Given the description of an element on the screen output the (x, y) to click on. 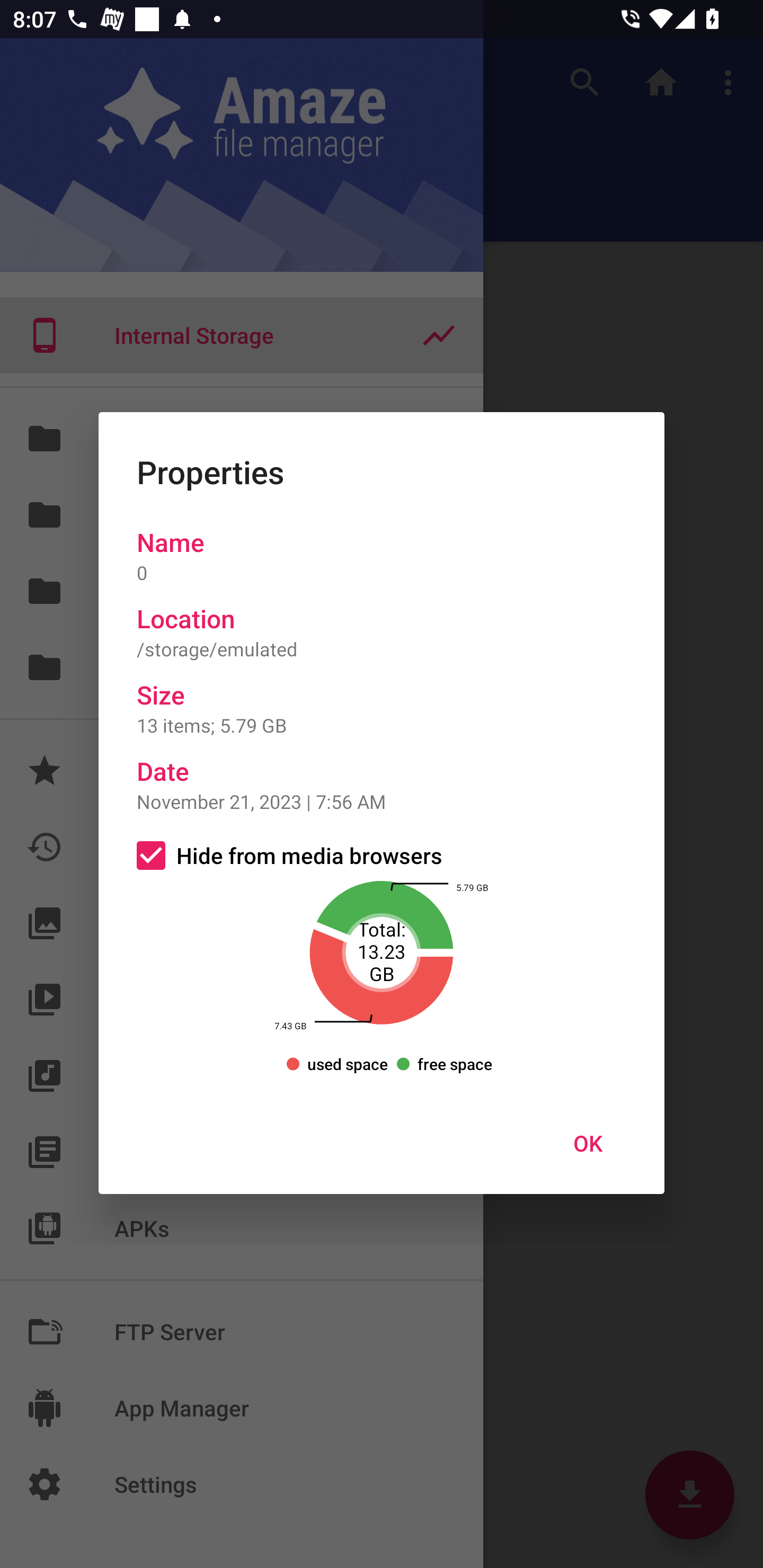
Hide from media browsers (381, 855)
OK (588, 1142)
